Given the description of an element on the screen output the (x, y) to click on. 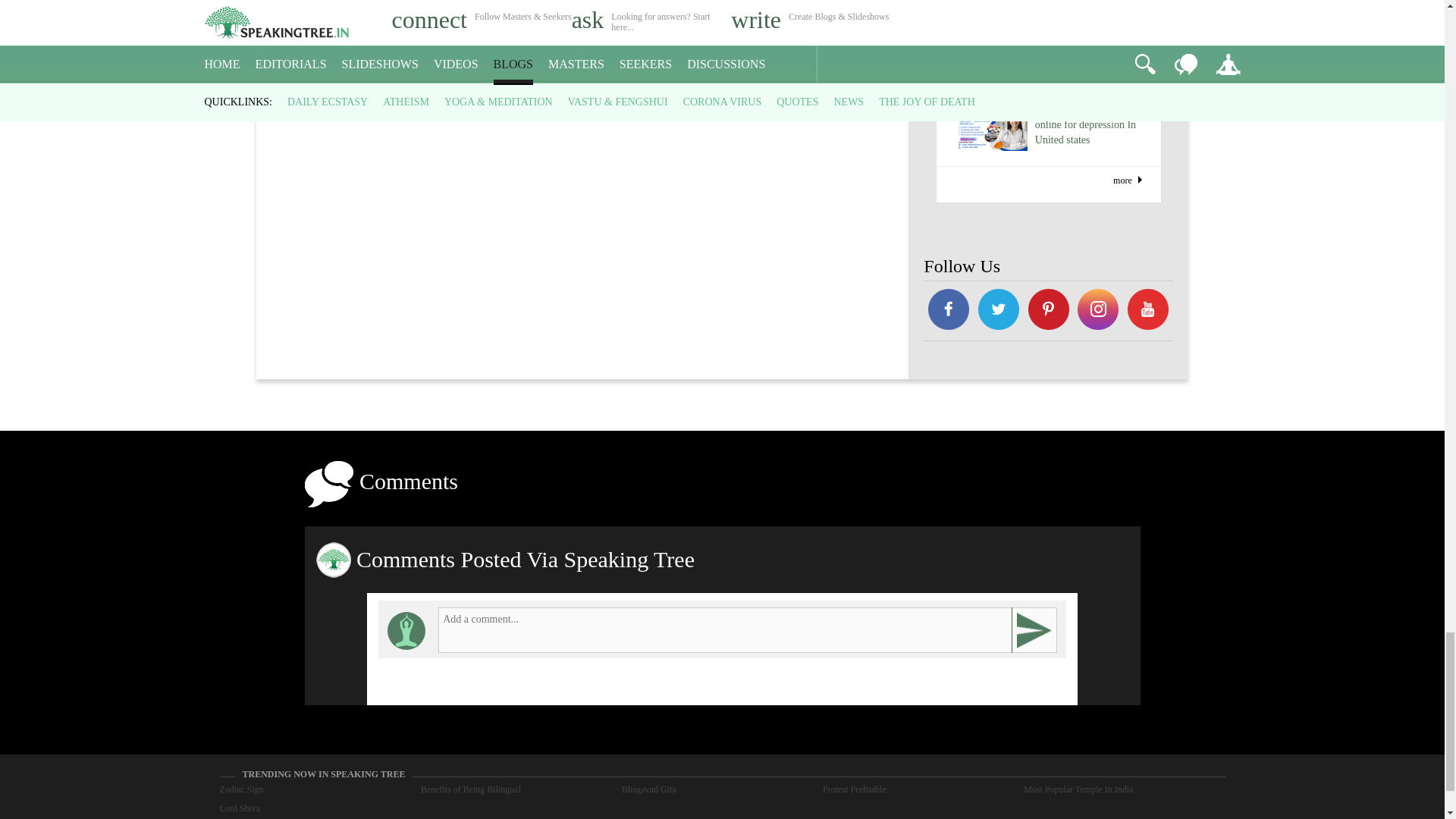
Speaking Tree FaceBook (1099, 311)
Speaking Tree FaceBook (948, 311)
Speaking Tree FaceBook (1048, 311)
Speaking Tree FaceBook (1147, 311)
Speaking Tree FaceBook (998, 311)
